Given the description of an element on the screen output the (x, y) to click on. 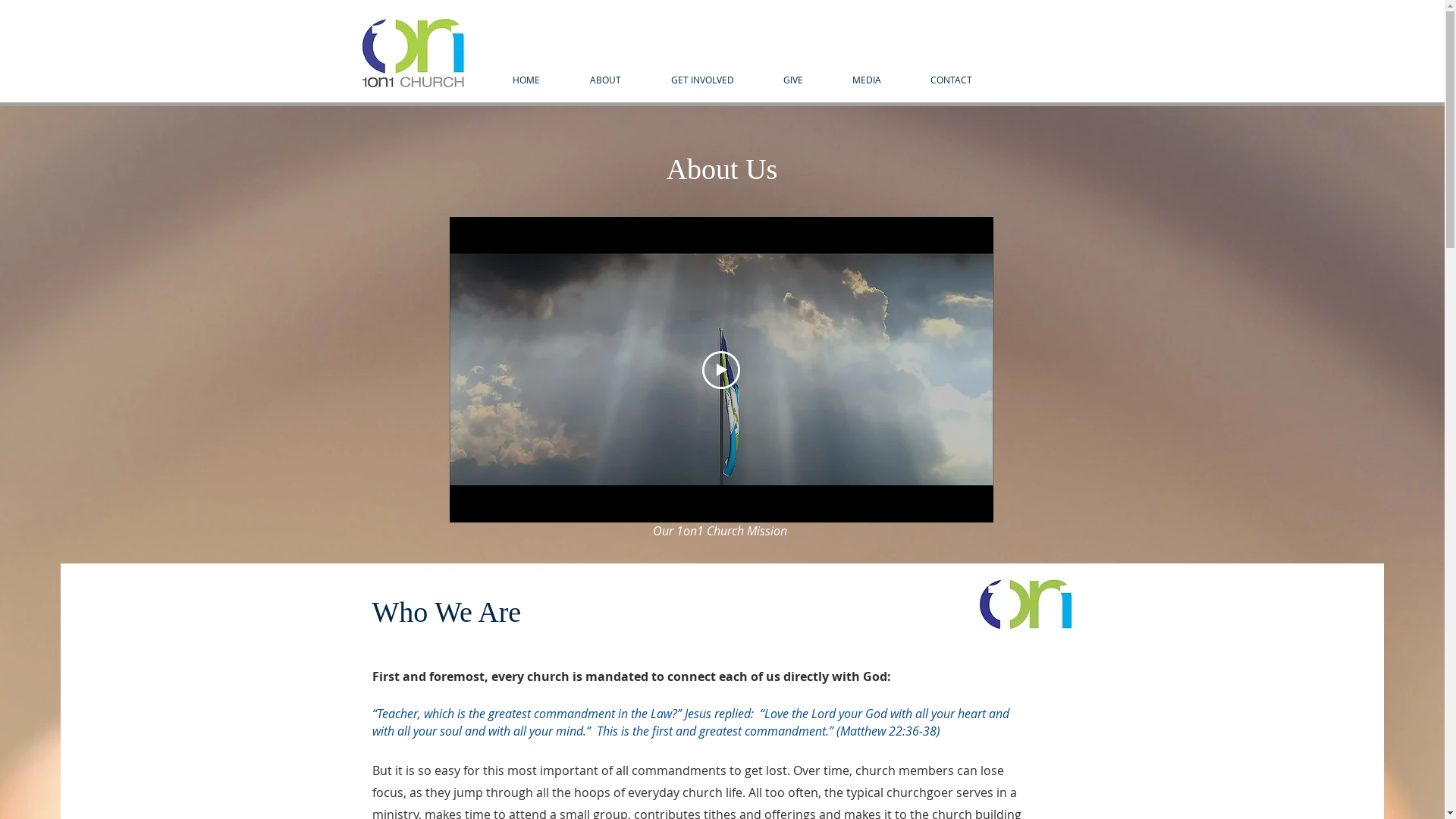
HOME Element type: text (525, 79)
DECAL 1on1 logo bug + name.jpg Element type: hover (410, 52)
GIVE Element type: text (792, 79)
CONTACT Element type: text (950, 79)
MEDIA Element type: text (867, 79)
